Given the description of an element on the screen output the (x, y) to click on. 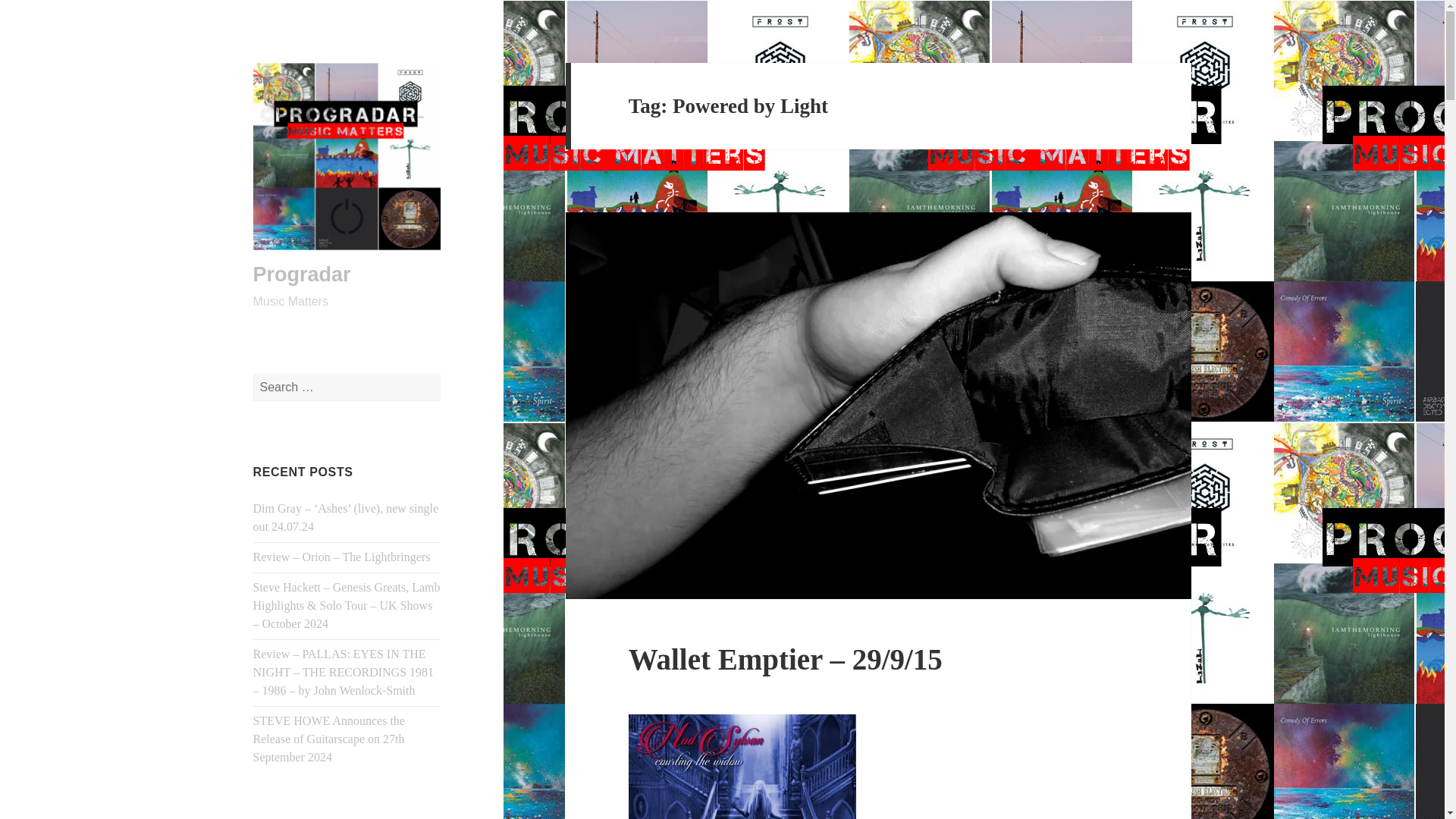
Progradar (301, 273)
